Given the description of an element on the screen output the (x, y) to click on. 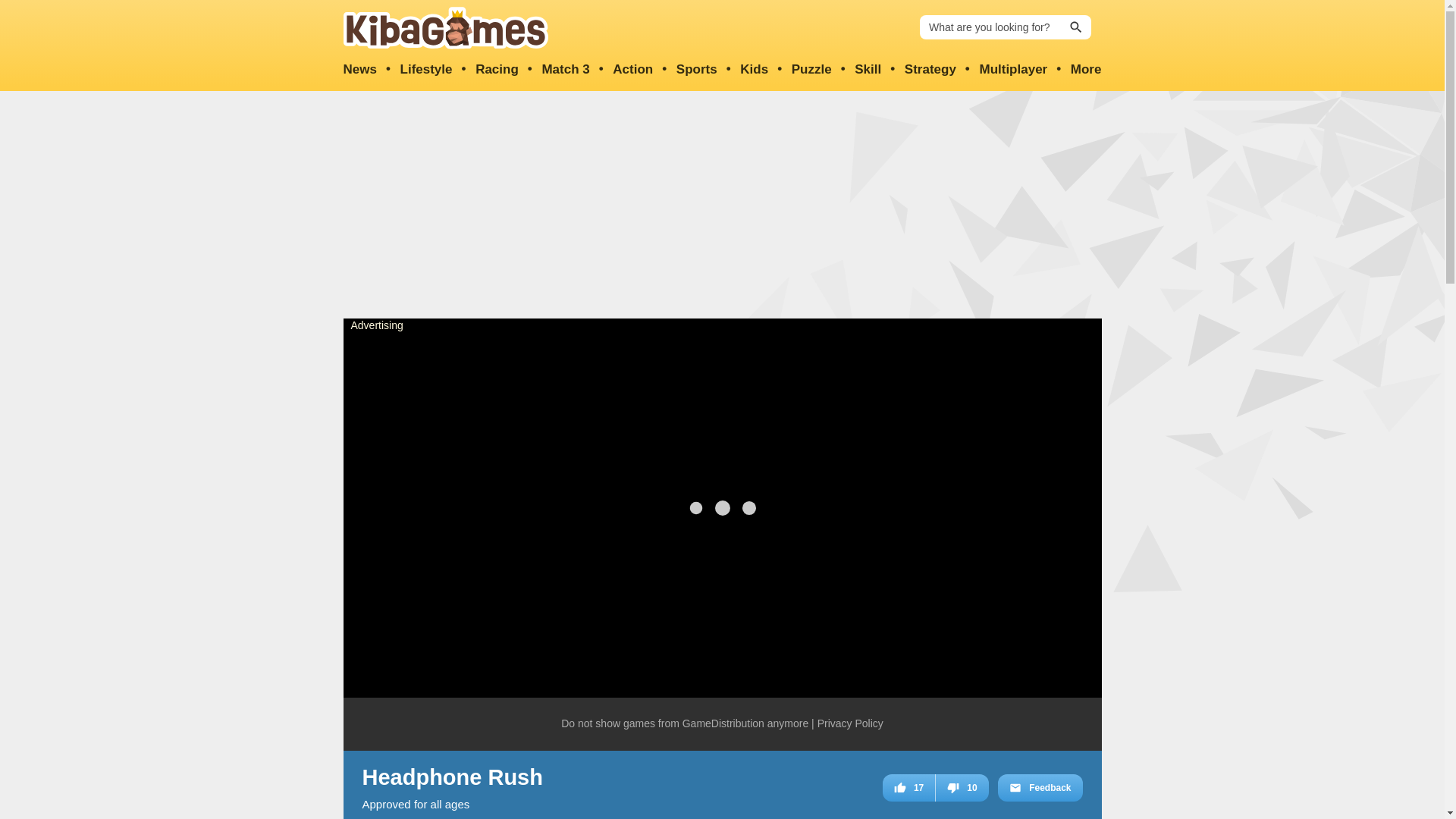
Racing (497, 69)
17 (909, 787)
More (1086, 69)
Privacy Policy (849, 724)
Match 3 (565, 69)
Do not show games from GameDistribution anymore (684, 724)
Feedback (1039, 787)
Strategy (930, 69)
Lifestyle (426, 69)
Like (909, 787)
